Given the description of an element on the screen output the (x, y) to click on. 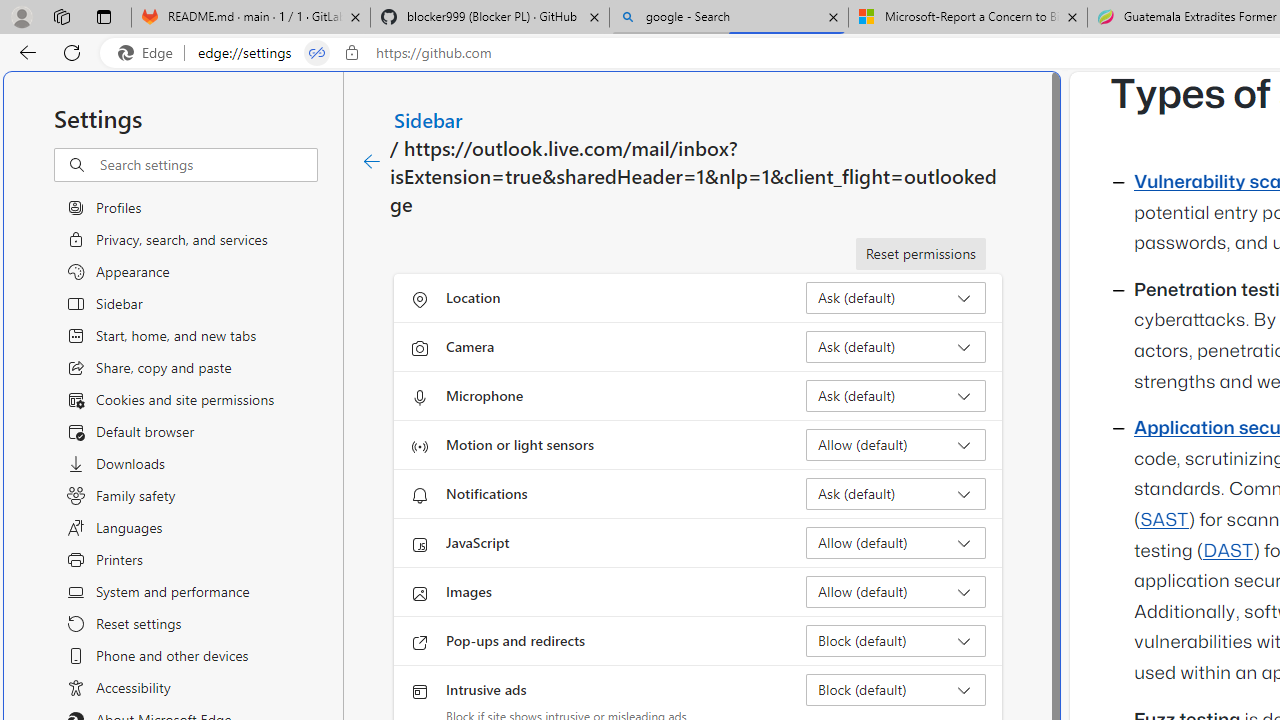
Motion or light sensors Allow (default) (895, 444)
Camera Ask (default) (895, 346)
Go back to Sidebar page. (372, 162)
Reset permissions (920, 254)
DAST (1228, 551)
Microphone Ask (default) (895, 395)
Sidebar (429, 119)
Tabs in split screen (317, 53)
